Given the description of an element on the screen output the (x, y) to click on. 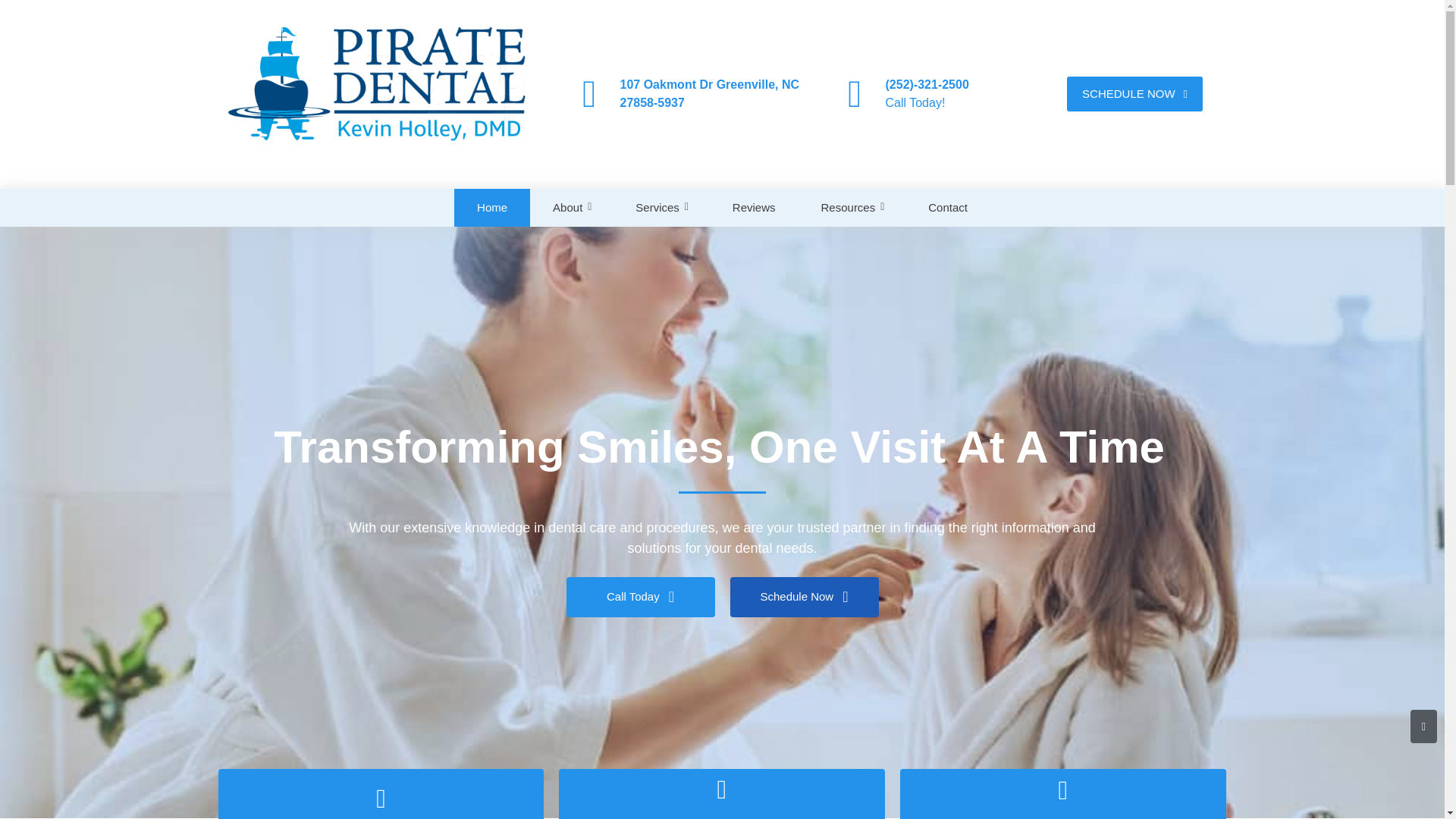
SCHEDULE NOW (1134, 93)
107 Oakmont Dr Greenville, NC 27858-5937 (709, 92)
